Given the description of an element on the screen output the (x, y) to click on. 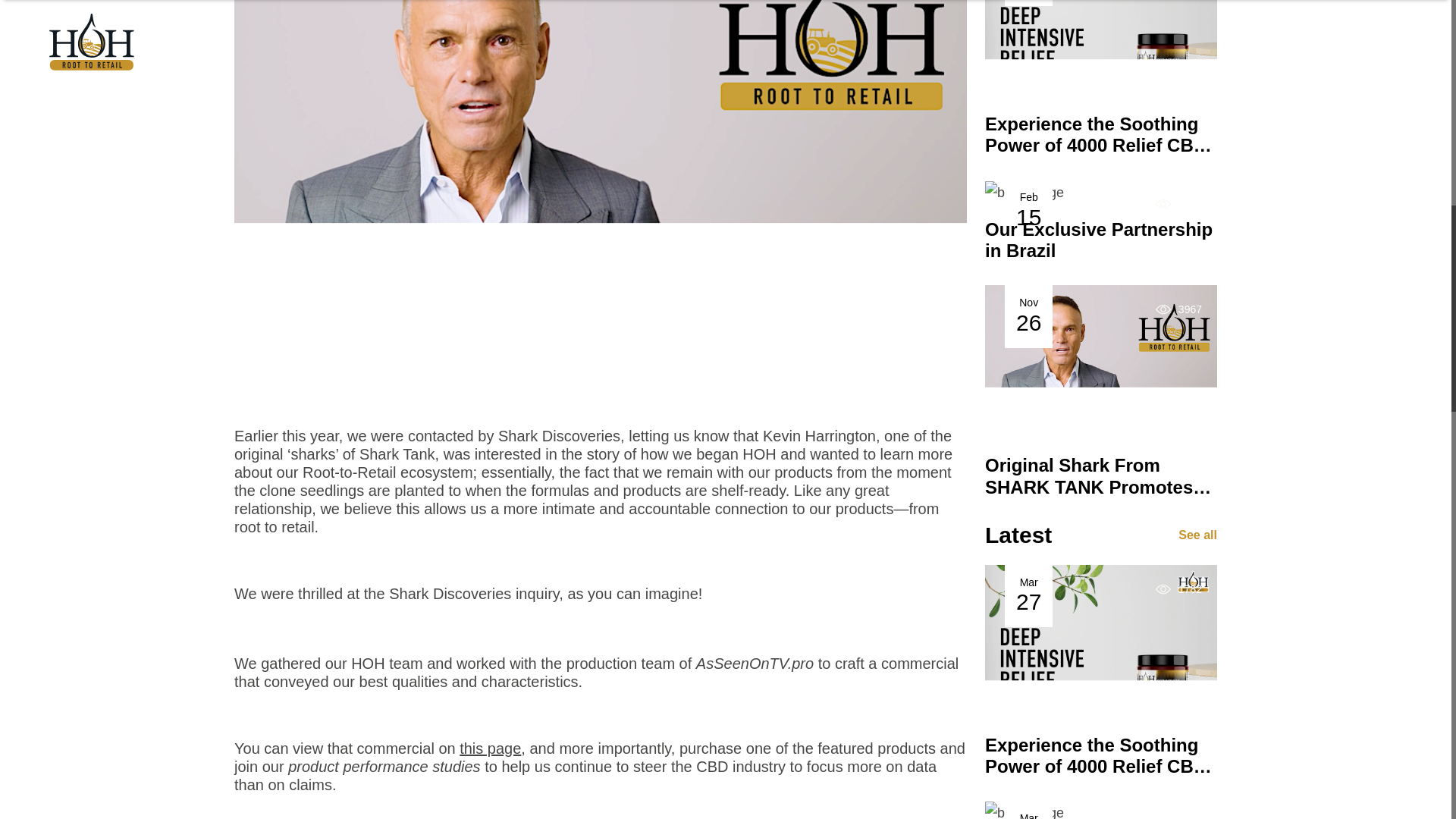
See all (1101, 391)
this page (1101, 220)
